Given the description of an element on the screen output the (x, y) to click on. 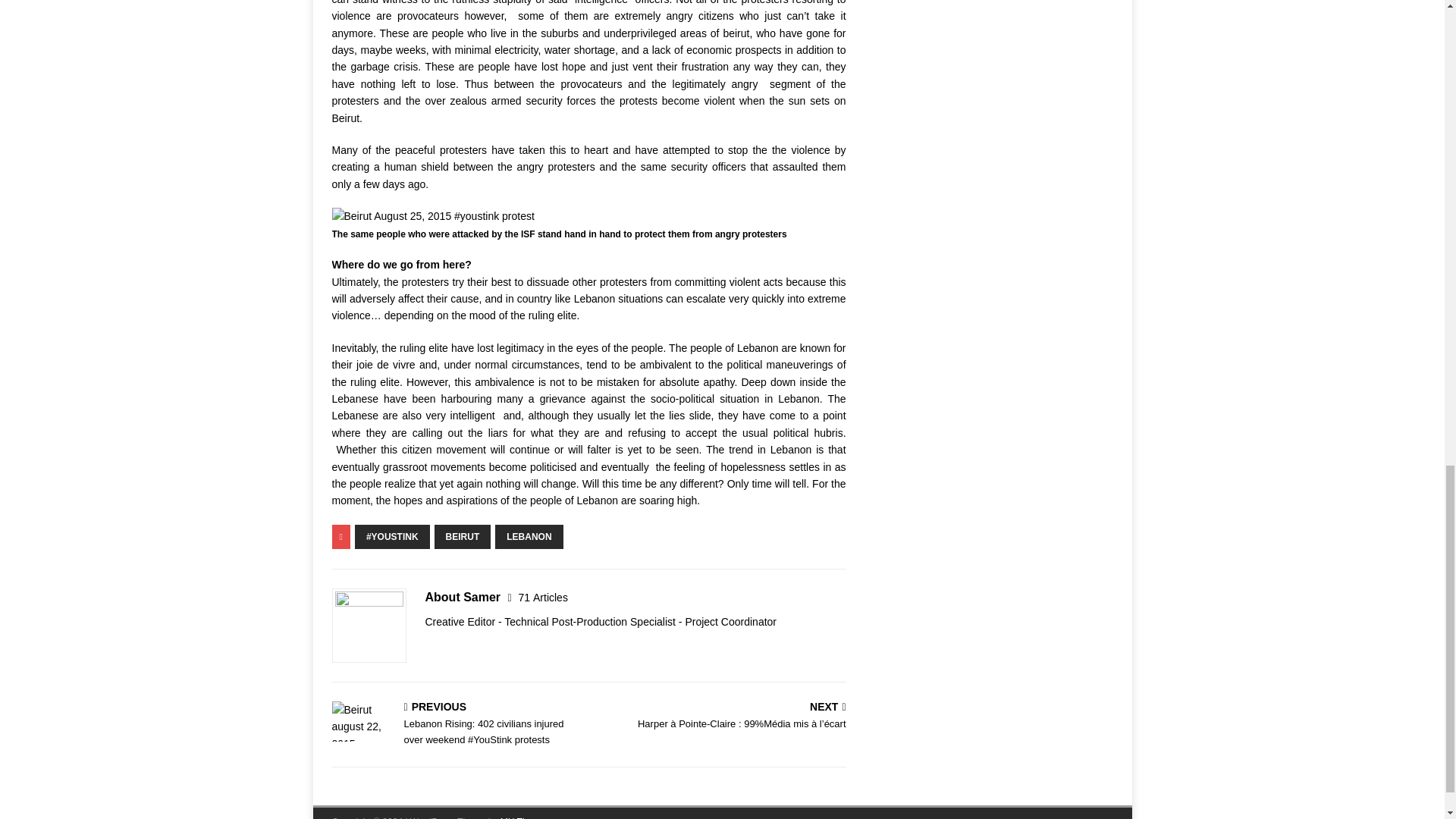
More articles written by Samer' (542, 597)
BEIRUT (462, 536)
LEBANON (528, 536)
71 Articles (542, 597)
